Given the description of an element on the screen output the (x, y) to click on. 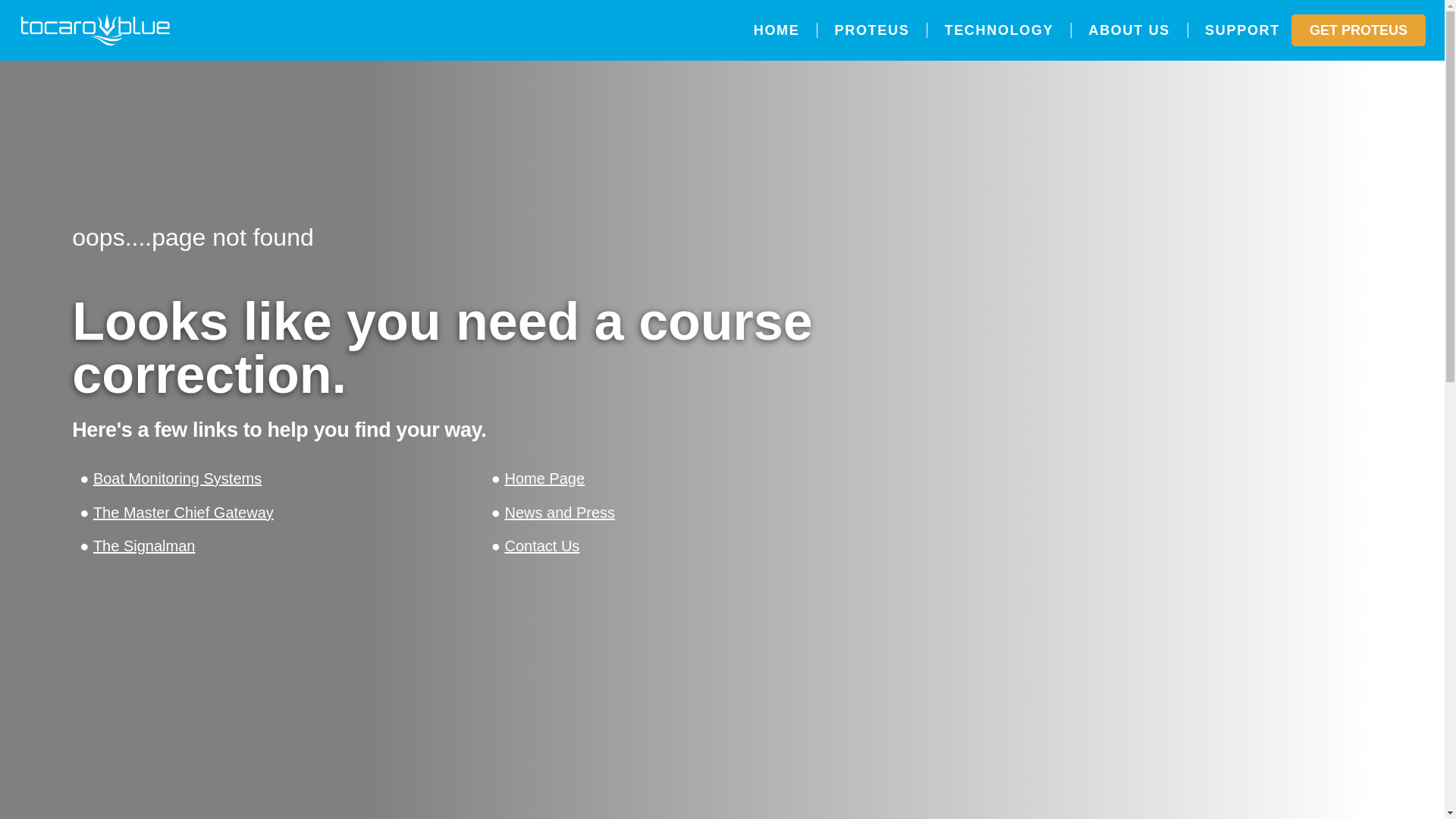
PROTEUS (872, 30)
News and Press (558, 512)
Contact Us (541, 545)
HOME (776, 30)
Boat Monitoring Systems (177, 478)
GET PROTEUS (1358, 29)
The Master Chief Gateway (183, 512)
Home Page (544, 478)
The Signalman (144, 545)
TECHNOLOGY (998, 30)
SUPPORT (1242, 30)
ABOUT US (1128, 30)
